Given the description of an element on the screen output the (x, y) to click on. 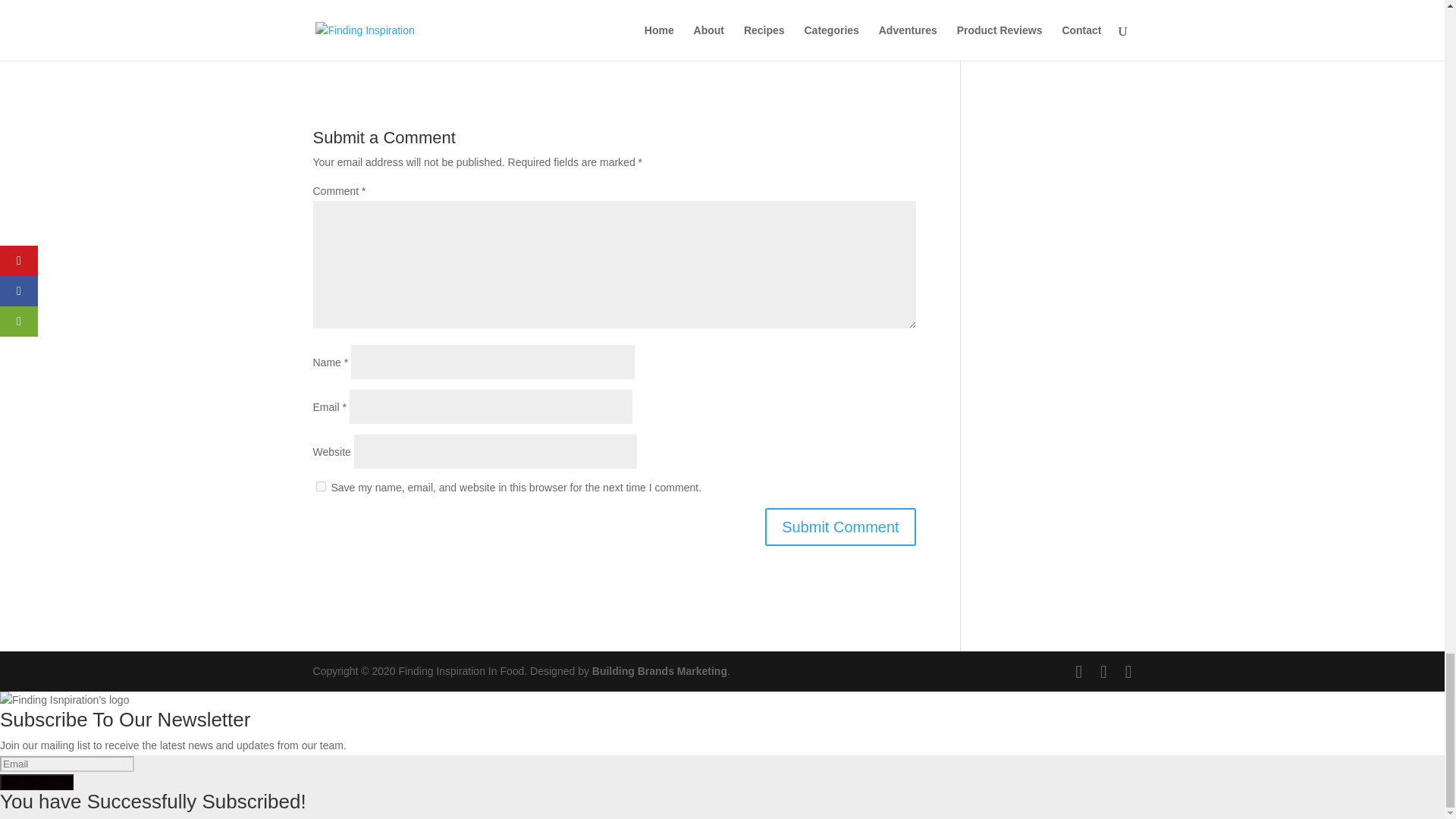
Submit Comment (840, 526)
yes (319, 486)
Building Brands Marketing (659, 671)
Submit Comment (840, 526)
SUBSCRIBE! (37, 781)
